Given the description of an element on the screen output the (x, y) to click on. 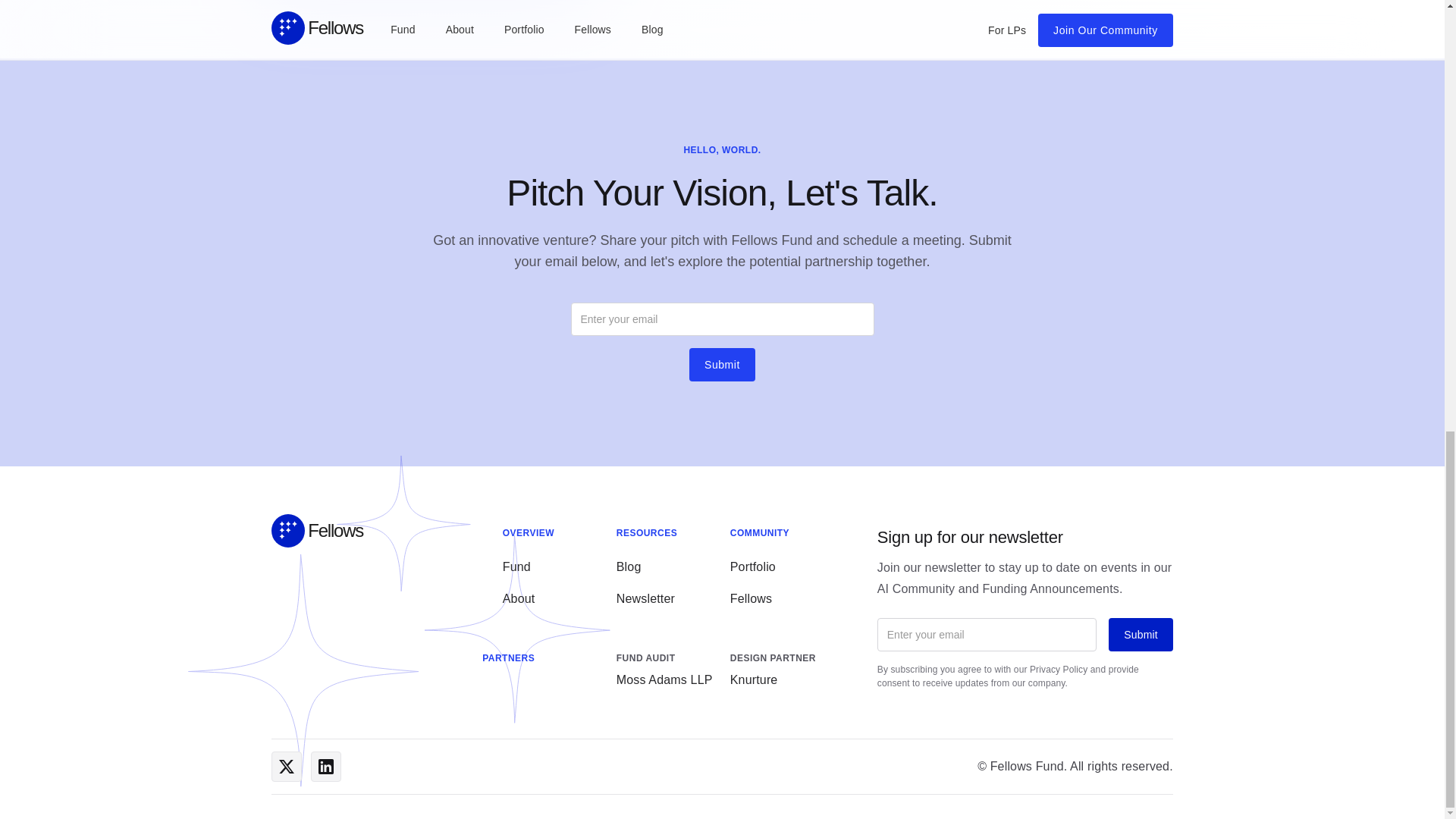
Submit (721, 364)
Submit (1140, 634)
